Given the description of an element on the screen output the (x, y) to click on. 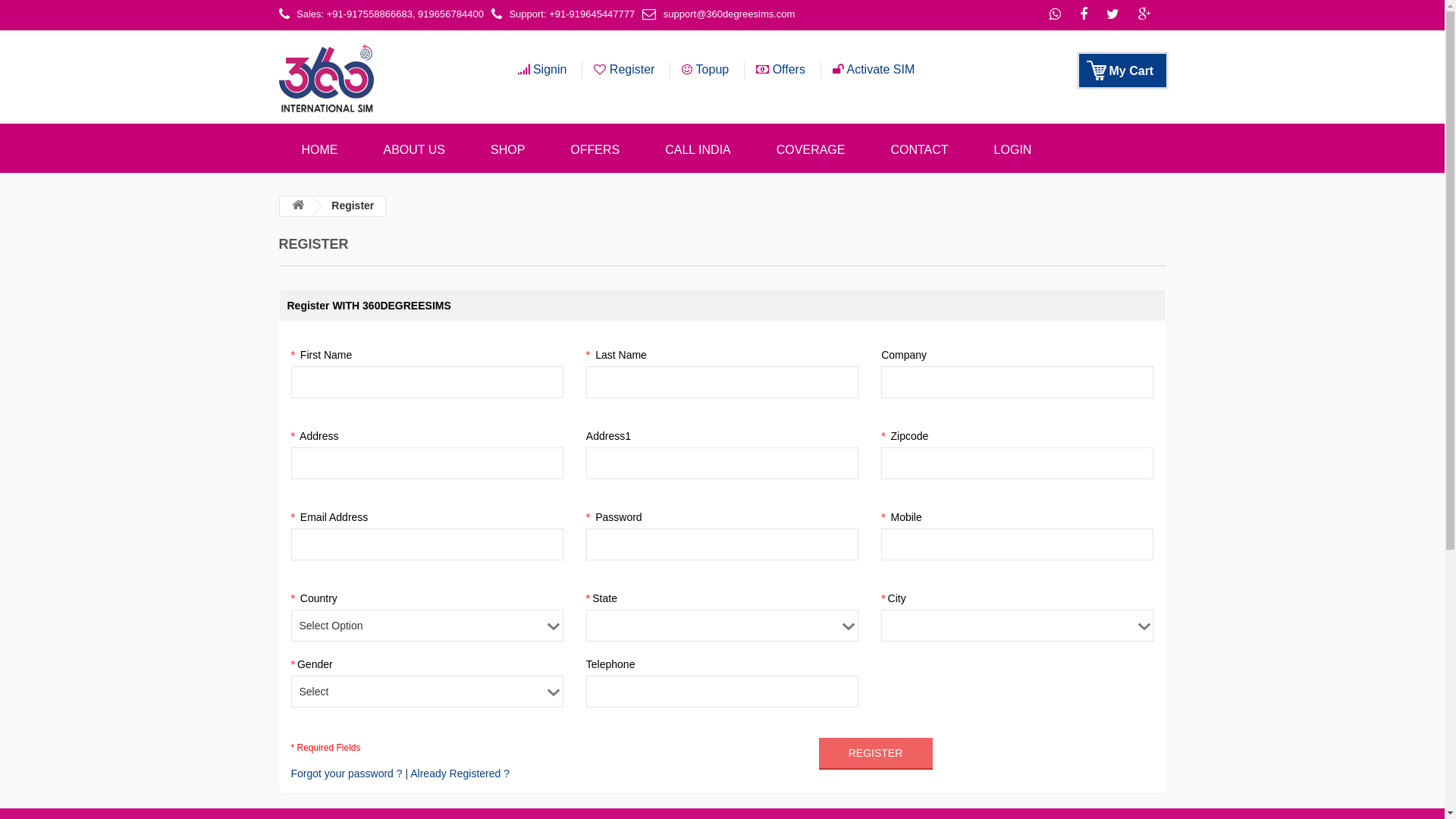
360 degree sims PVT LTD On Facebook Element type: hover (1088, 15)
Forgot your password ? Element type: text (346, 773)
ABOUT US Element type: text (414, 147)
Support: +91-919645447777 Element type: text (566, 12)
SHOP Element type: text (507, 147)
OFFERS Element type: text (594, 147)
360 degree sims PVT LTD On Twitter Element type: hover (1118, 15)
Register WITH 360DEGREESIMS Element type: text (721, 304)
Sales: +91-917558866683, 919656784400 Element type: text (385, 12)
LOGIN Element type: text (1012, 147)
Already Registered ? Element type: text (459, 773)
360 degree sims PVT LTD On Whatsapp Element type: hover (1059, 15)
360 degree sims PVT LTD On Google+ Element type: hover (1150, 15)
Return to Home Element type: hover (297, 206)
CONTACT Element type: text (918, 147)
Register Element type: text (875, 753)
support@360degreesims.com Element type: text (722, 12)
COVERAGE Element type: text (810, 147)
Register Element type: text (626, 69)
HOME Element type: text (319, 147)
360 degree sims PVT LTD Element type: hover (381, 77)
My Cart Element type: text (1121, 70)
CALL INDIA Element type: text (697, 147)
Activate SIM Element type: text (875, 69)
Topup Element type: text (707, 69)
Offers Element type: text (782, 69)
Signin Element type: text (549, 69)
